Given the description of an element on the screen output the (x, y) to click on. 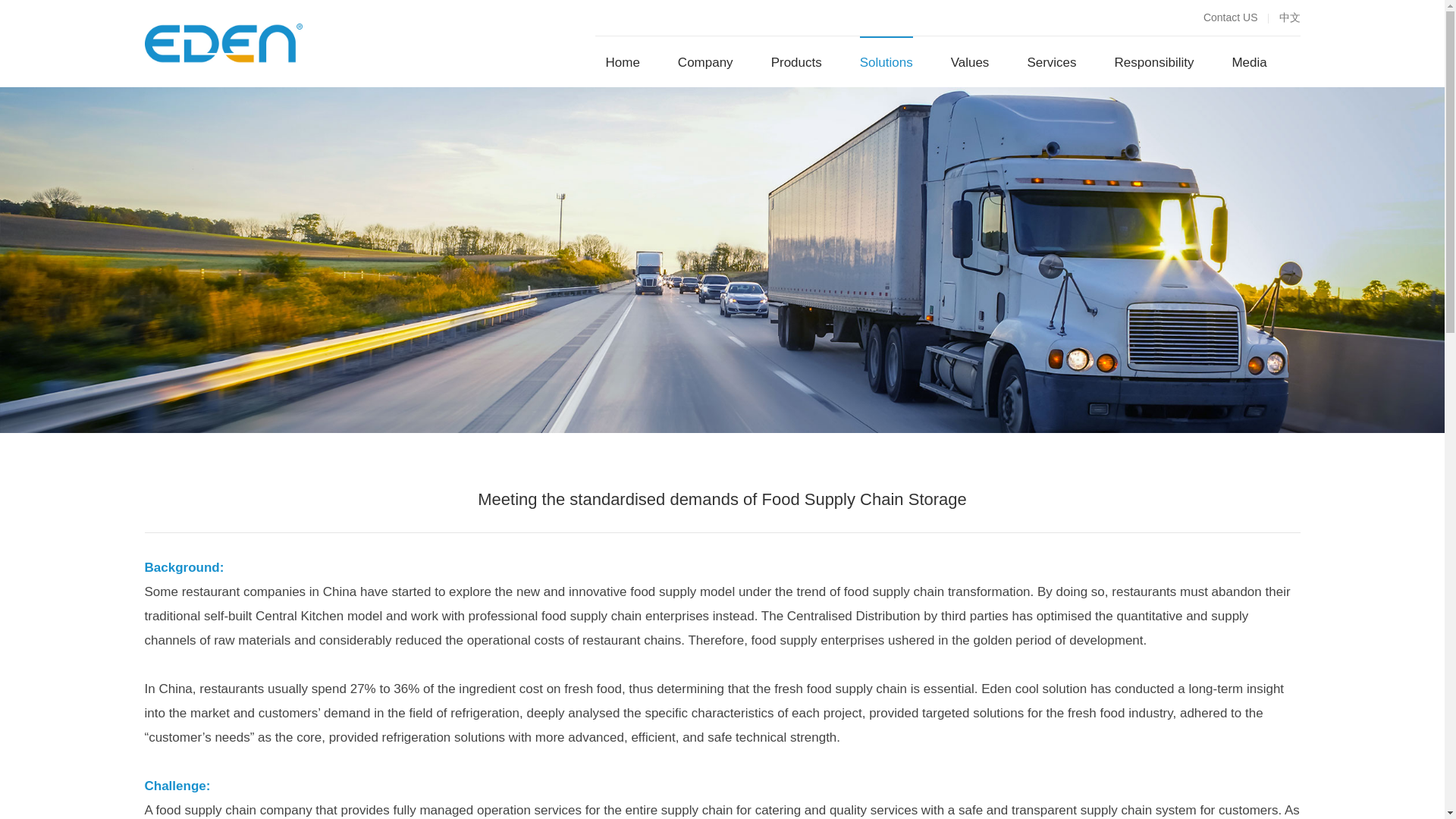
Contact US (1227, 18)
Services (1050, 61)
Company (705, 61)
Responsibility (1154, 61)
Products (796, 61)
Solutions (886, 61)
